Given the description of an element on the screen output the (x, y) to click on. 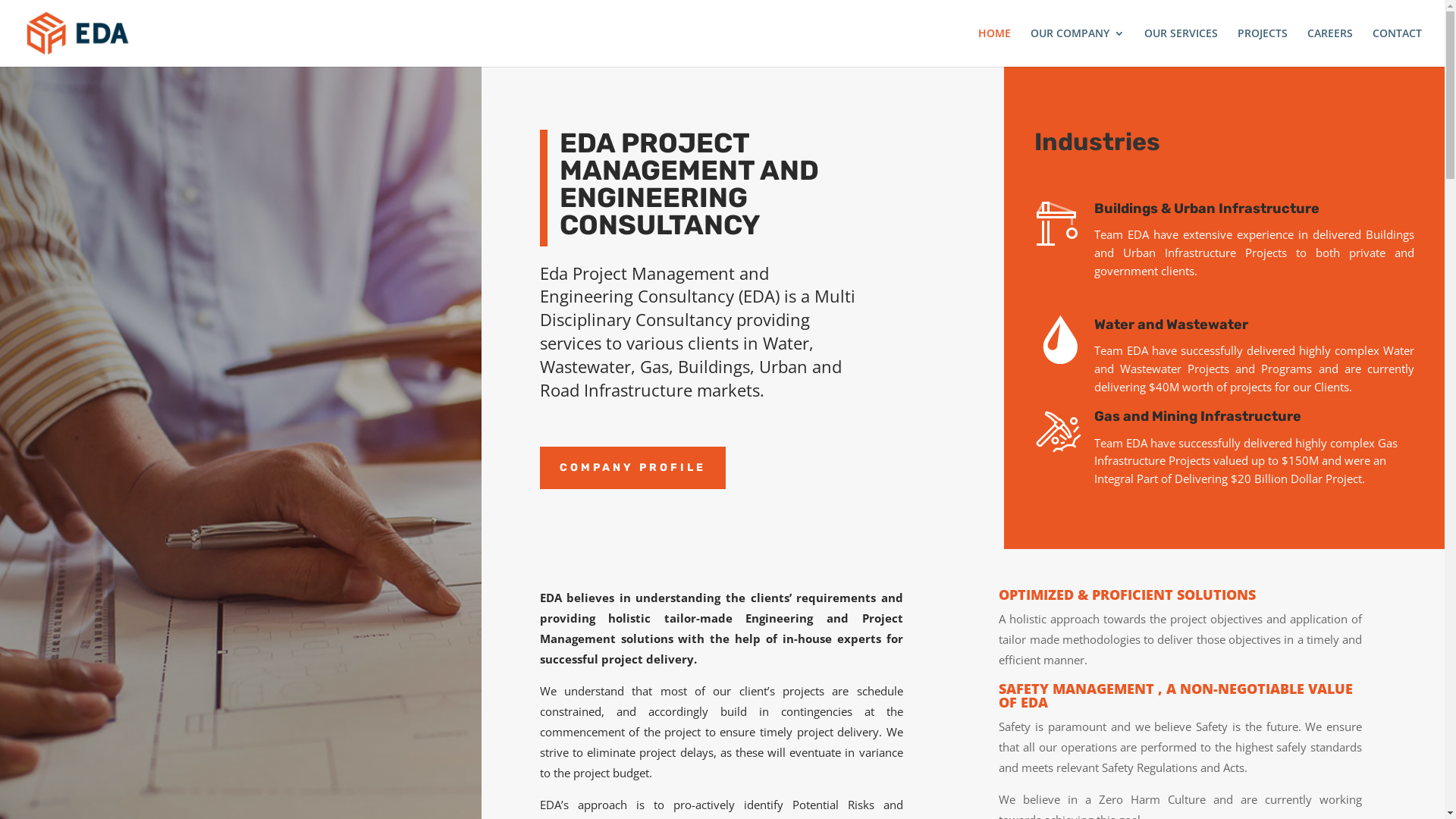
CONTACT Element type: text (1396, 47)
OUR COMPANY Element type: text (1077, 47)
COMPANY PROFILE Element type: text (632, 467)
PROJECTS Element type: text (1262, 47)
HOME Element type: text (994, 47)
OUR SERVICES Element type: text (1180, 47)
CAREERS Element type: text (1329, 47)
